Given the description of an element on the screen output the (x, y) to click on. 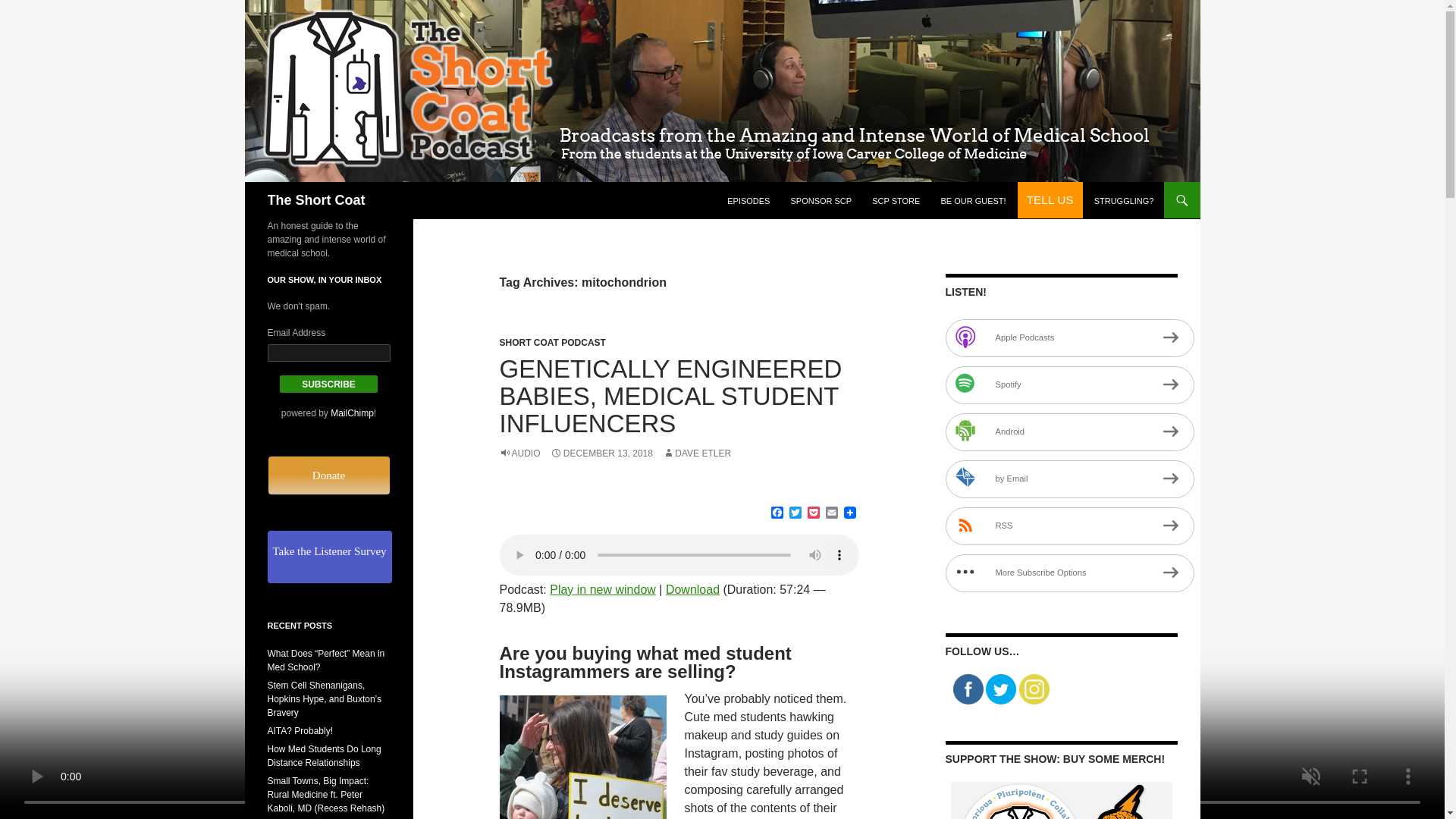
Email (831, 513)
Pocket (812, 513)
SPONSOR SCP (820, 200)
Pocket (812, 513)
Subscribe (328, 384)
DAVE ETLER (696, 452)
The Short Coat (315, 199)
TELL US (1050, 199)
Download (692, 589)
STRUGGLING? (1123, 200)
Play in new window (603, 589)
SHORT COAT PODCAST (552, 342)
Facebook (776, 513)
DECEMBER 13, 2018 (601, 452)
